Given the description of an element on the screen output the (x, y) to click on. 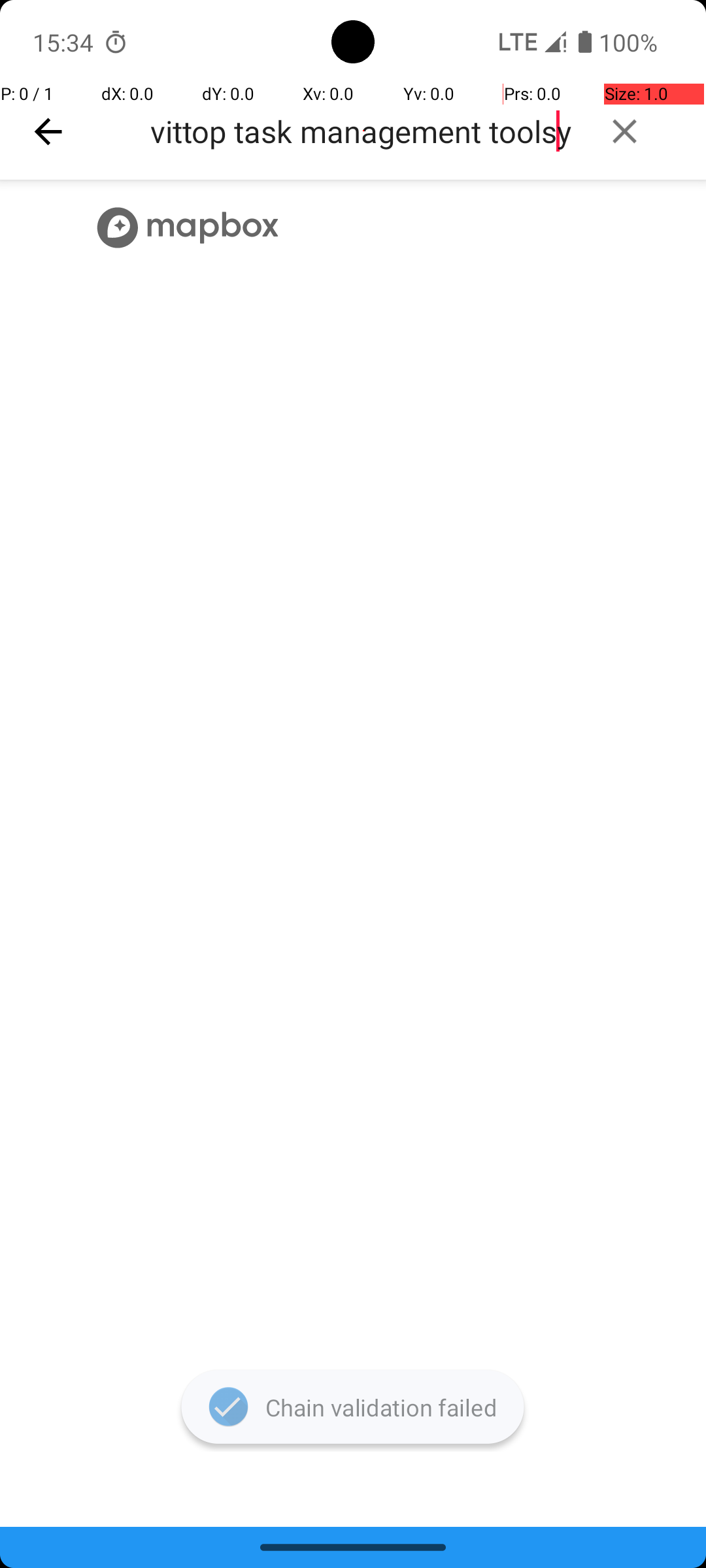
best productivittop task management toolsy apps Element type: android.widget.AutoCompleteTextView (363, 130)
